Given the description of an element on the screen output the (x, y) to click on. 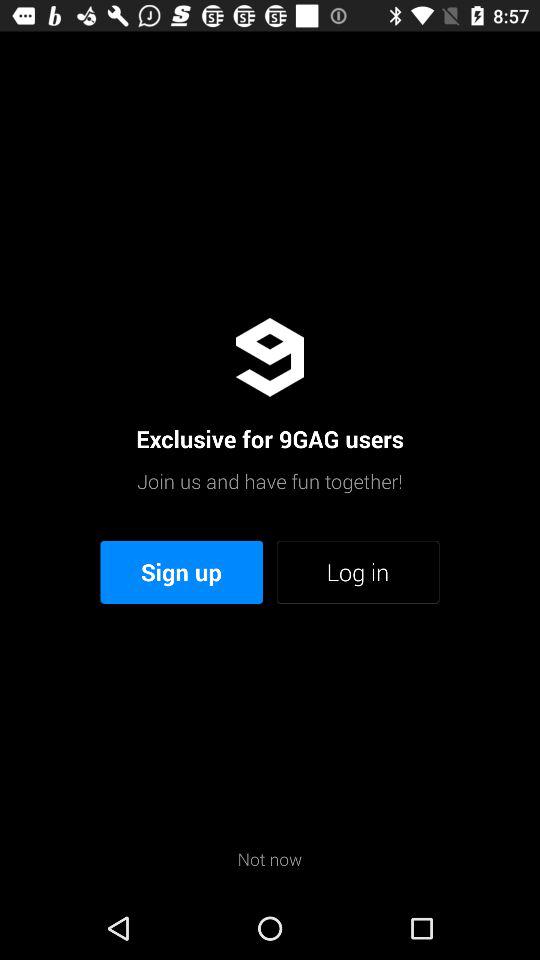
swipe to not now (269, 858)
